Given the description of an element on the screen output the (x, y) to click on. 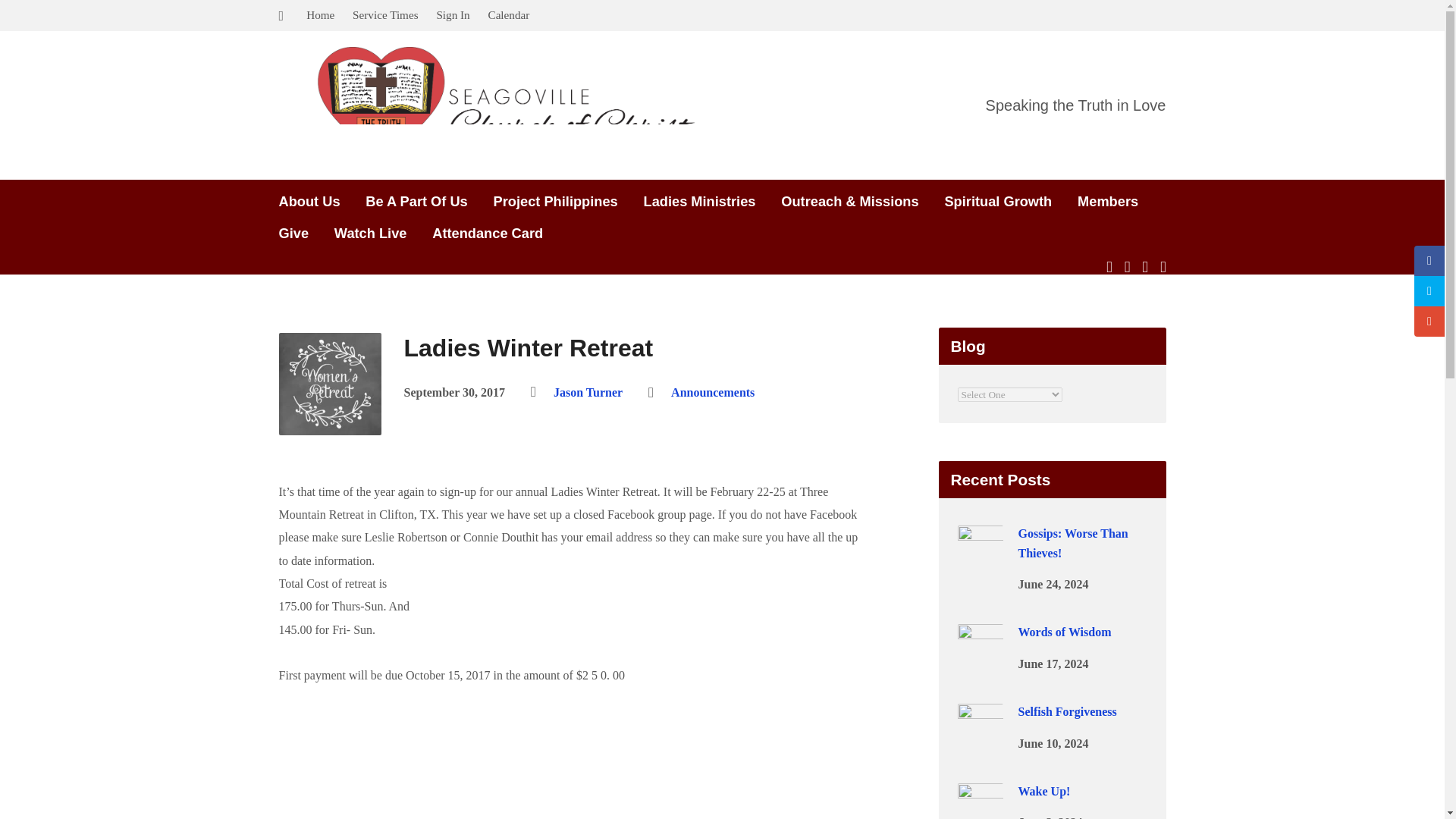
Gossips: Worse Than Thieves! (979, 560)
Selfish Forgiveness (1066, 711)
Wake Up! (979, 815)
Ladies Ministries (699, 201)
Service Times (385, 14)
Words of Wisdom (979, 658)
Project Philippines (555, 201)
Members (1107, 201)
Wake Up! (1043, 790)
Gossips: Worse Than Thieves! (1071, 543)
Words of Wisdom (1063, 631)
Give (293, 233)
Sign In (451, 14)
Calendar (508, 14)
Spiritual Growth (997, 201)
